Given the description of an element on the screen output the (x, y) to click on. 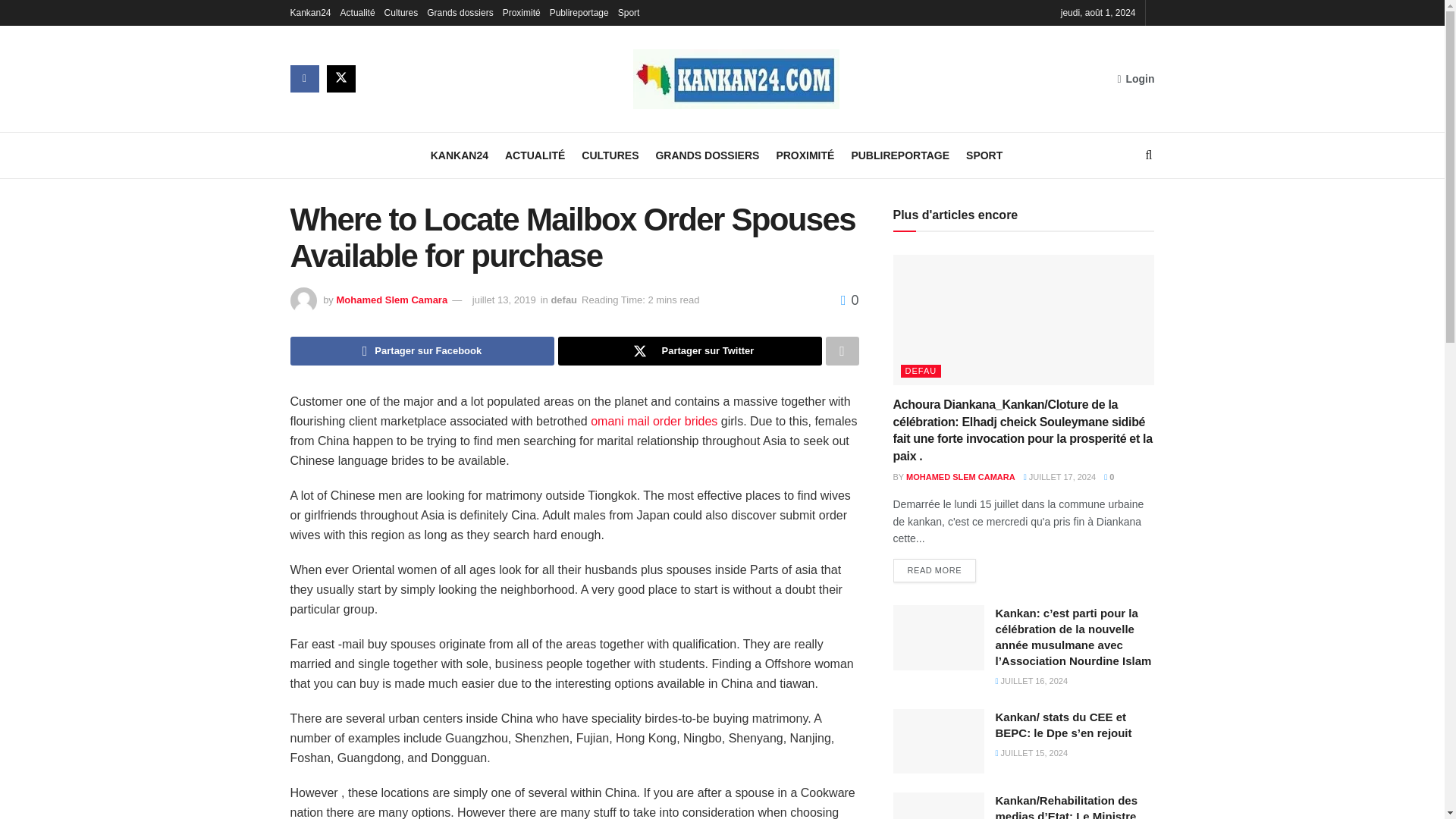
SPORT (984, 155)
Grands dossiers (459, 12)
defau (563, 299)
Partager sur Facebook (421, 350)
Publireportage (579, 12)
KANKAN24 (458, 155)
Cultures (401, 12)
Mohamed Slem Camara (391, 299)
Partager sur Twitter (689, 350)
GRANDS DOSSIERS (706, 155)
CULTURES (609, 155)
PUBLIREPORTAGE (899, 155)
Login (1135, 78)
0 (850, 299)
Kankan24 (309, 12)
